Given the description of an element on the screen output the (x, y) to click on. 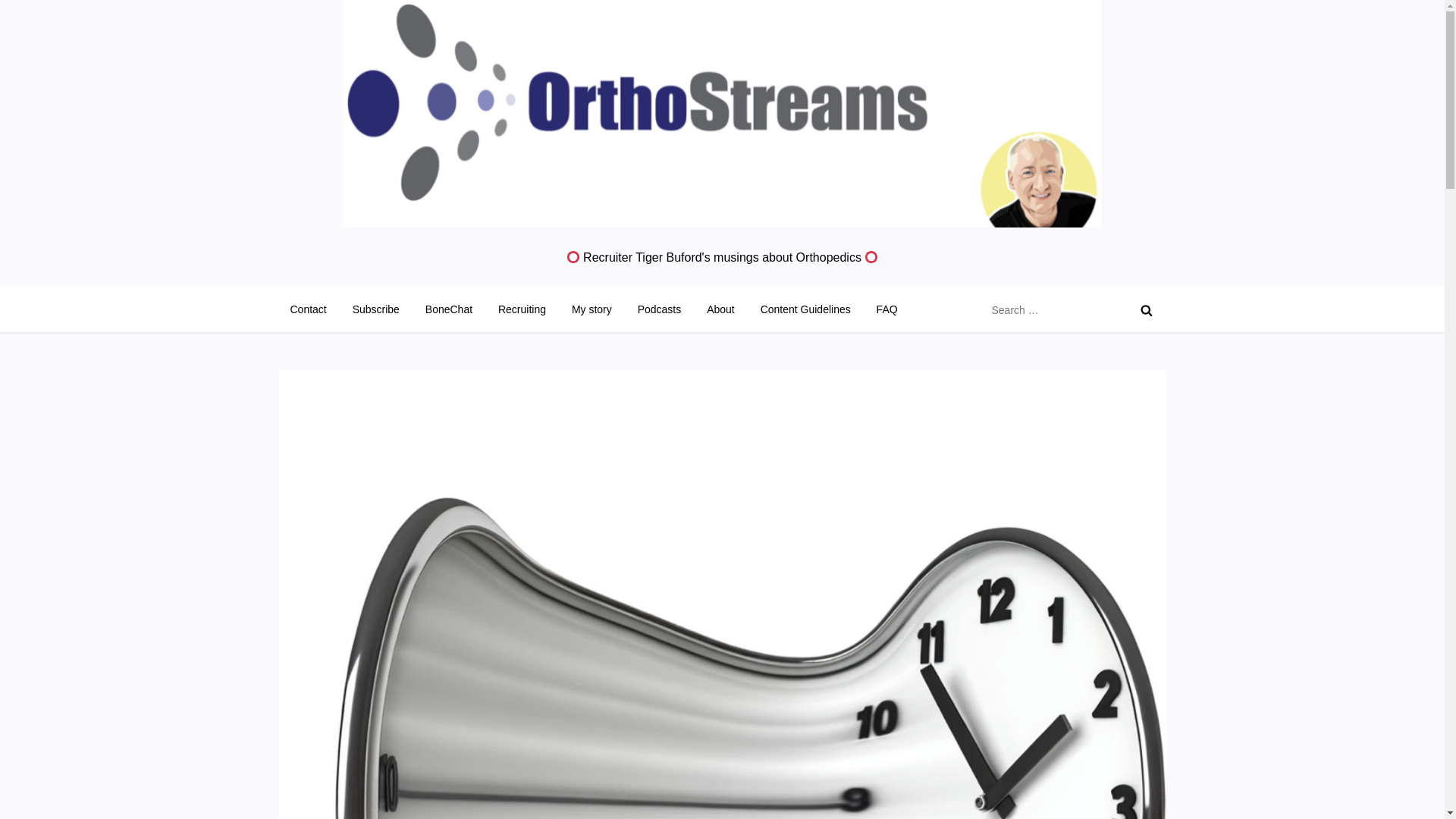
Subscribe (375, 309)
FAQ (886, 309)
Recruiting (521, 309)
Podcasts (659, 309)
My story (591, 309)
Contact (308, 309)
BoneChat (448, 309)
Content Guidelines (805, 309)
About (720, 309)
